Given the description of an element on the screen output the (x, y) to click on. 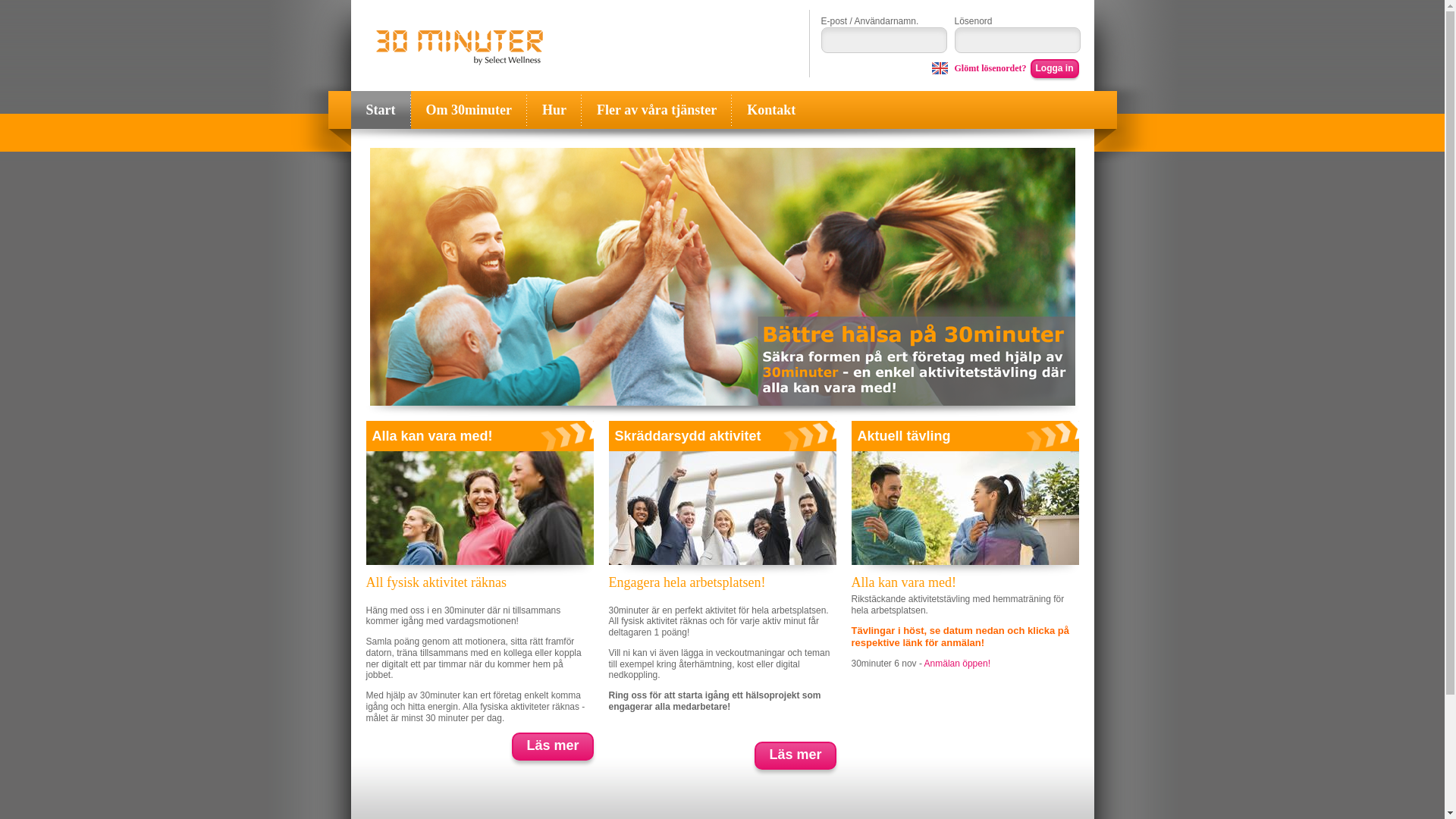
Start Element type: text (380, 109)
Hur Element type: text (554, 109)
Change language Element type: text (939, 67)
Logga in Element type: text (1053, 68)
Om 30minuter Element type: text (469, 109)
Tillbaka till startsidan Element type: hover (459, 47)
Kontakt Element type: text (770, 109)
